Given the description of an element on the screen output the (x, y) to click on. 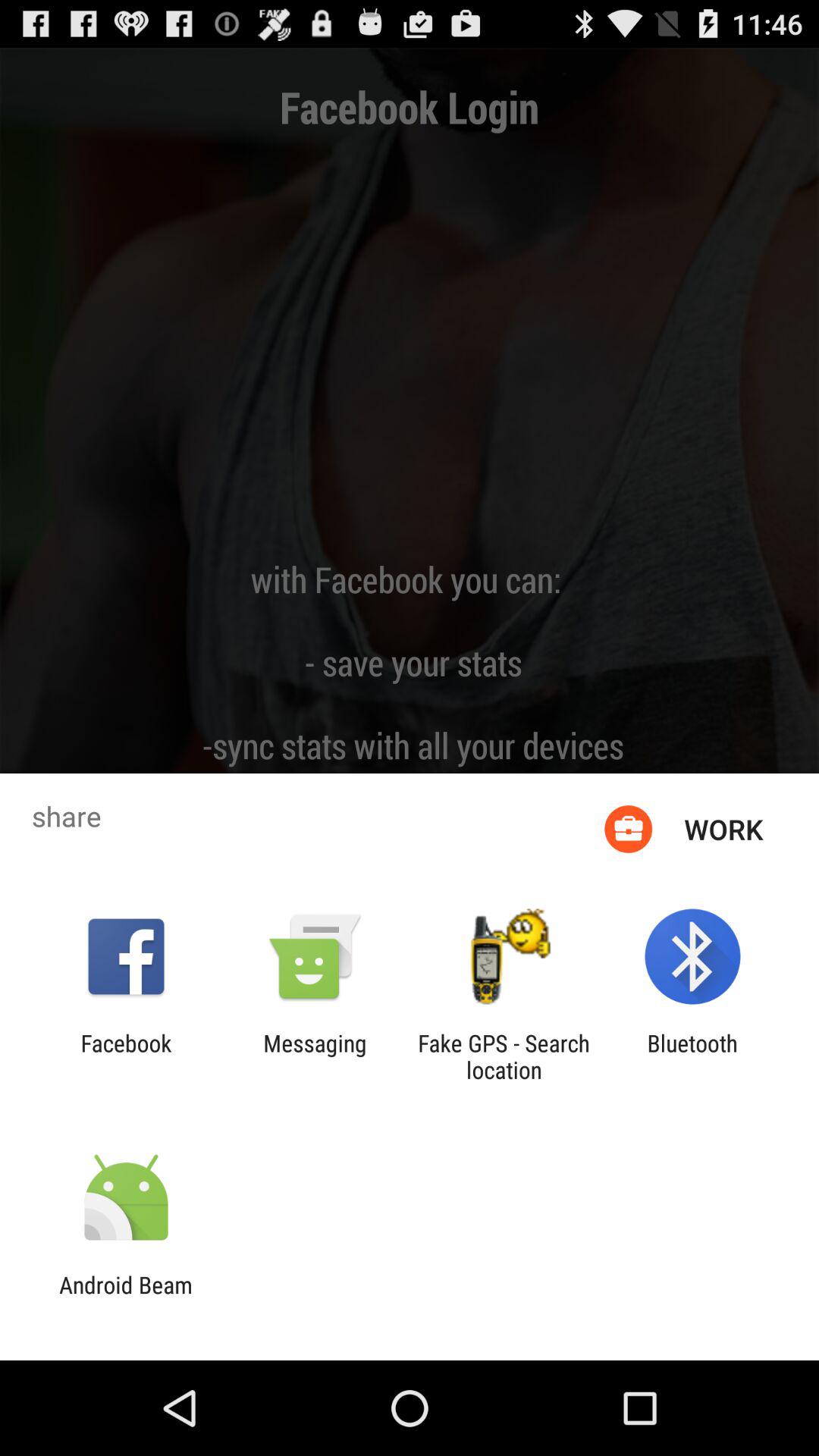
turn on the icon next to bluetooth item (503, 1056)
